Given the description of an element on the screen output the (x, y) to click on. 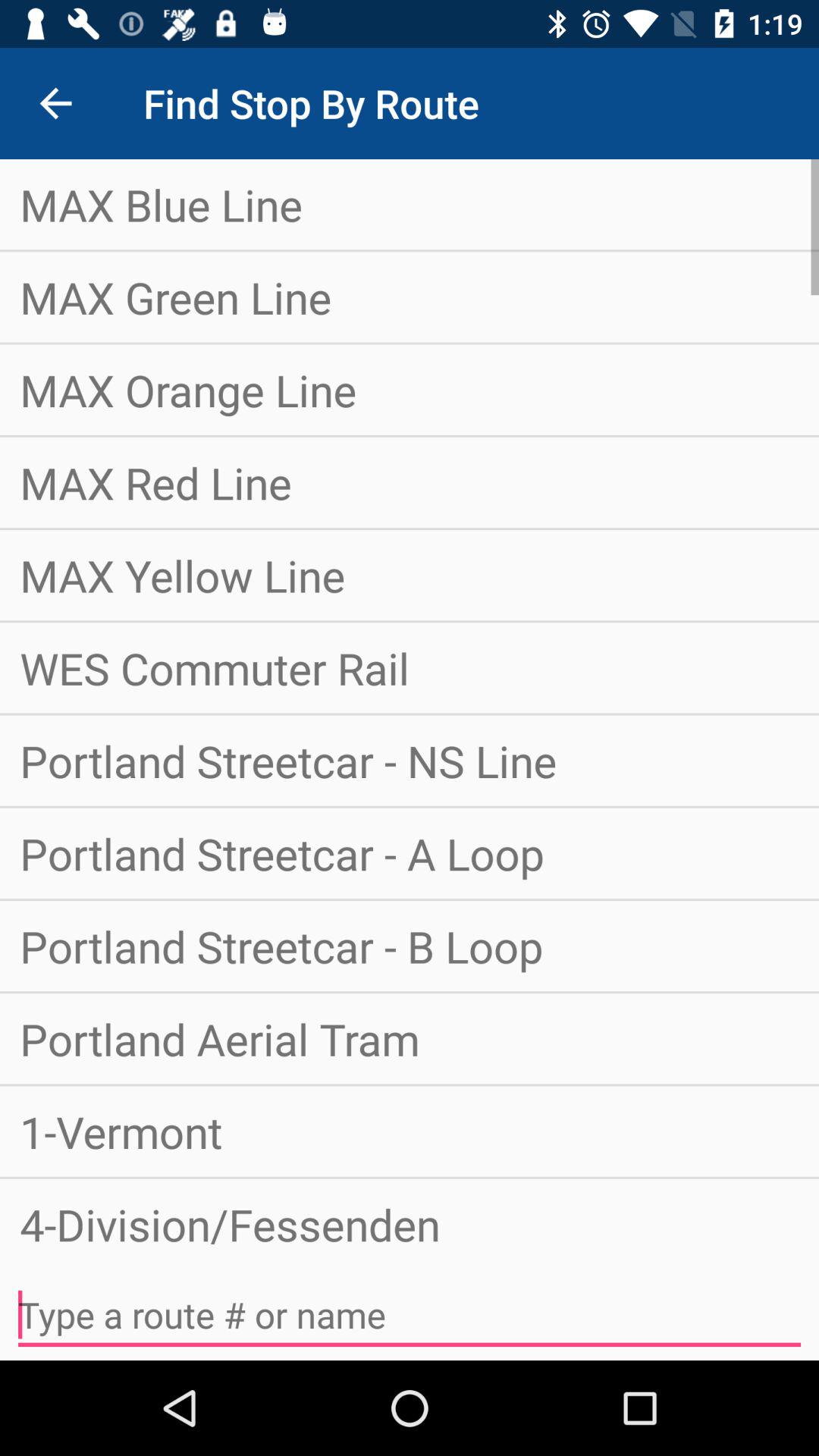
flip until 1-vermont item (409, 1131)
